Given the description of an element on the screen output the (x, y) to click on. 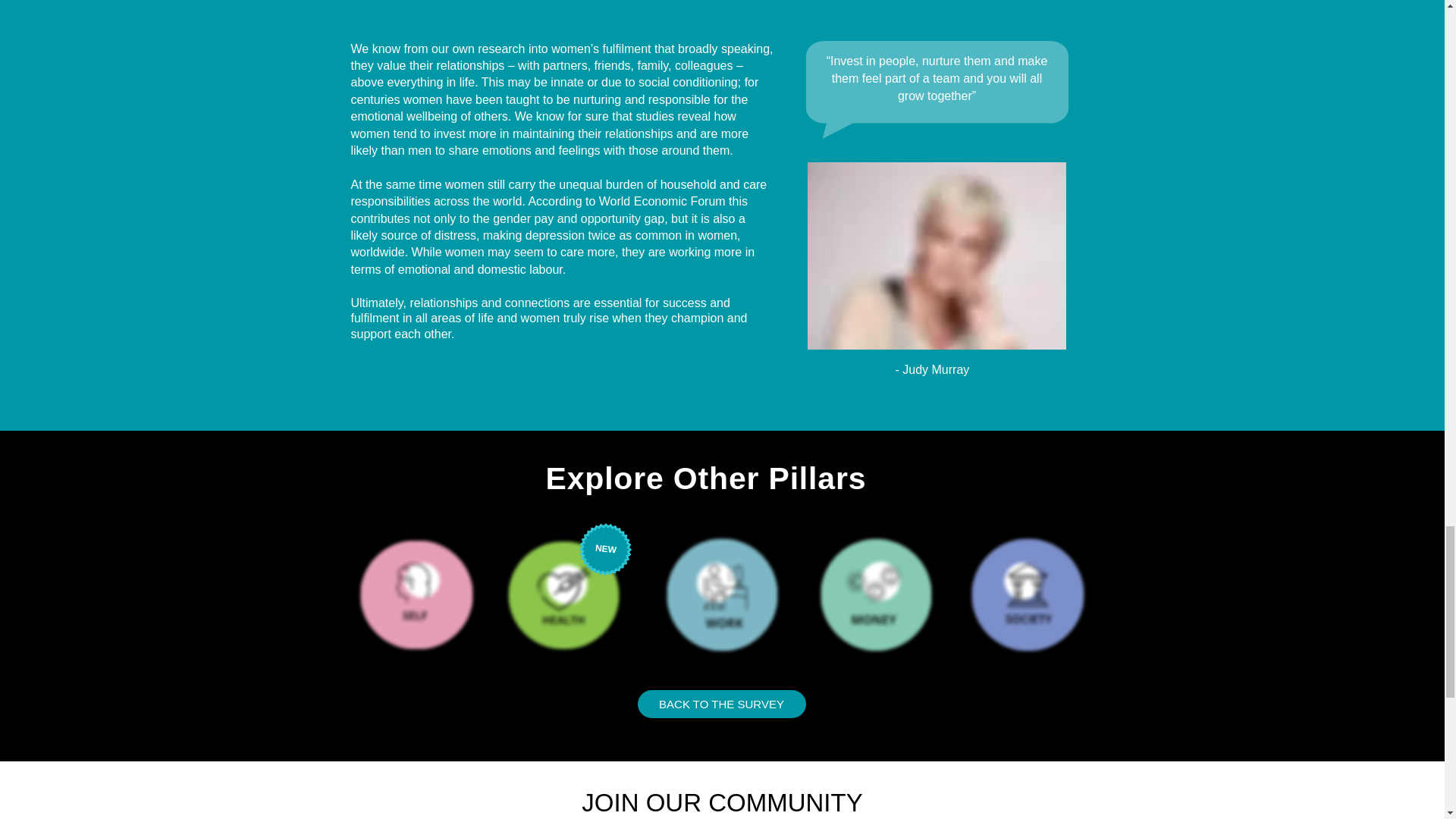
BACK TO THE SURVEY (721, 704)
